Given the description of an element on the screen output the (x, y) to click on. 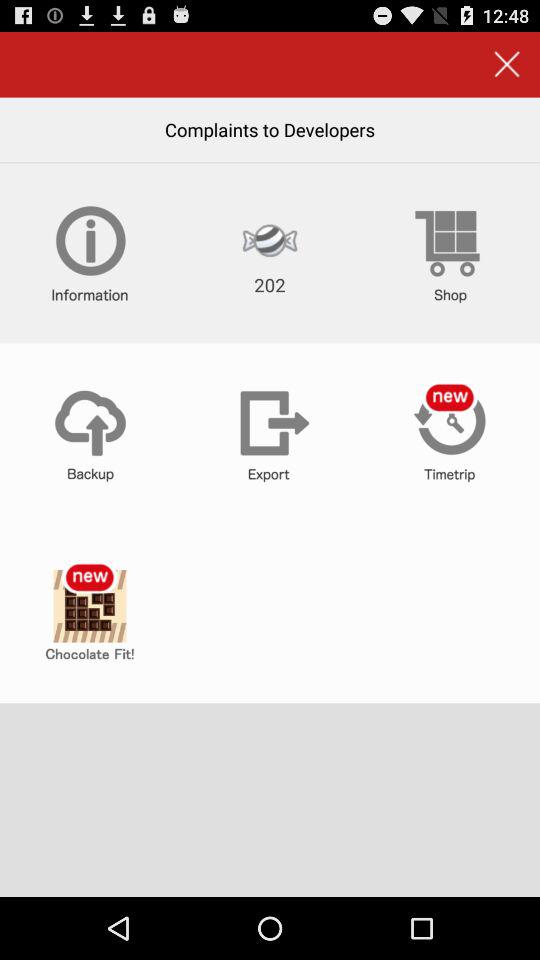
backup the data (90, 433)
